Given the description of an element on the screen output the (x, y) to click on. 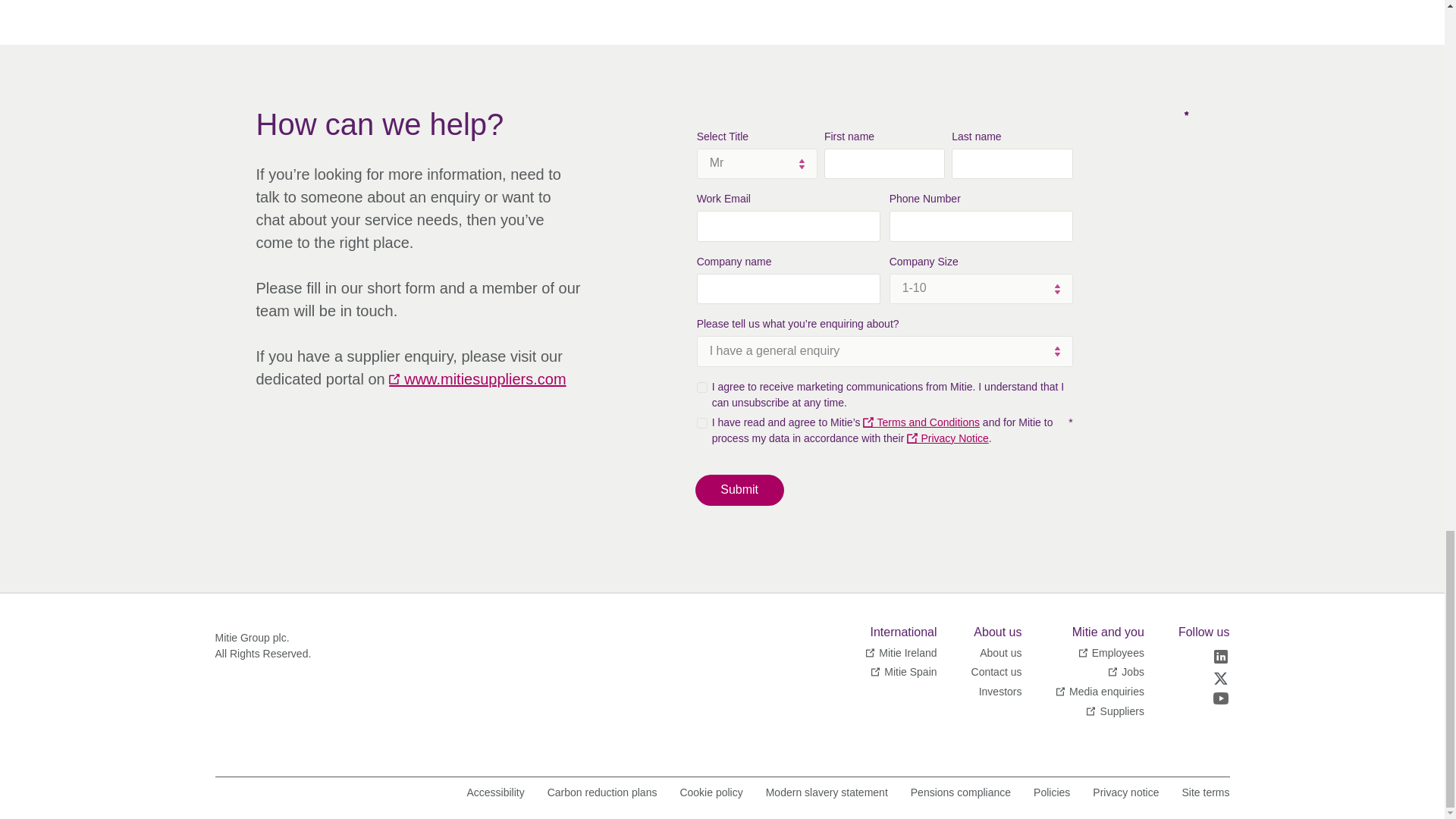
Submit (739, 490)
